Given the description of an element on the screen output the (x, y) to click on. 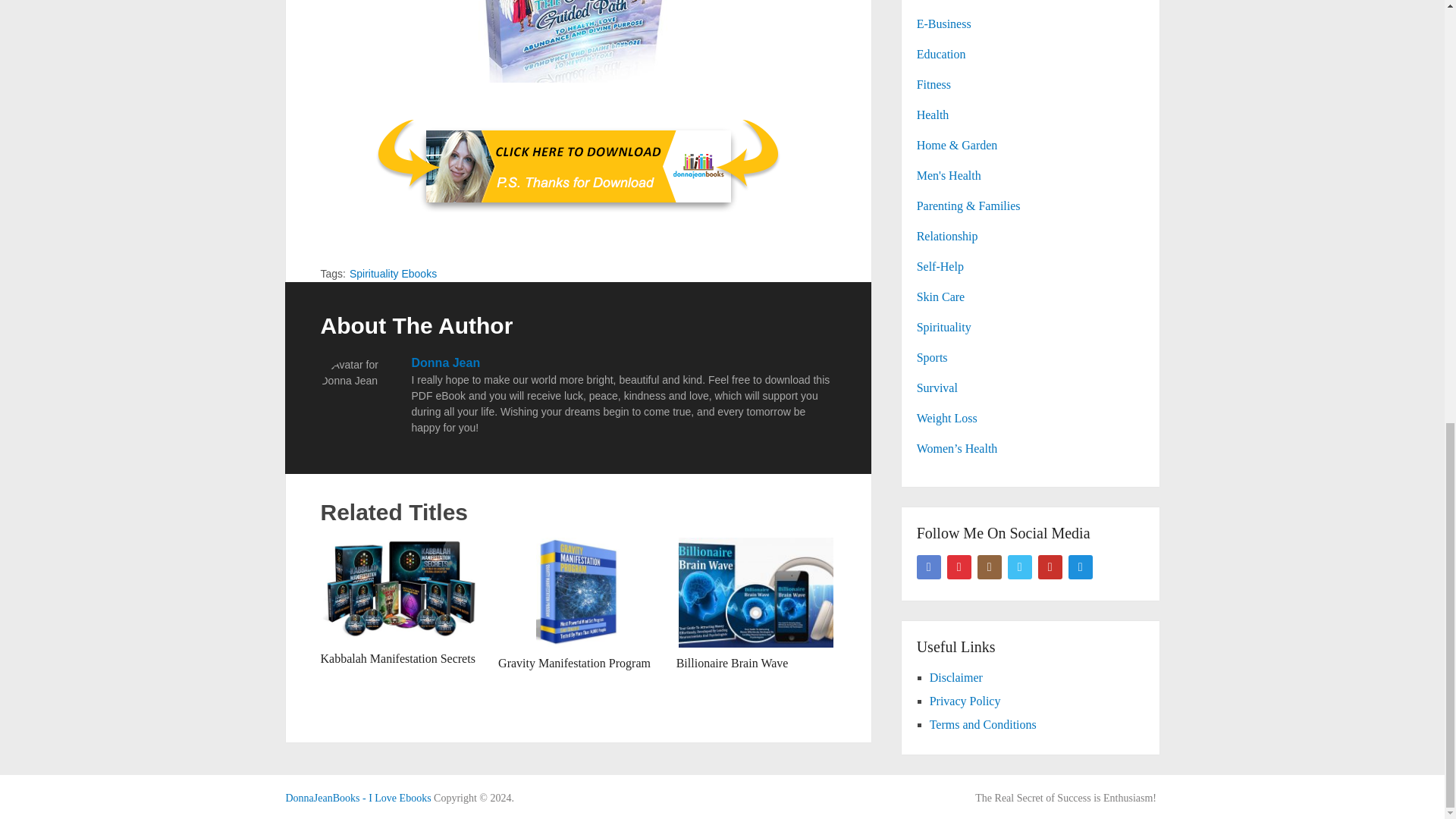
E-Business (944, 23)
Billionaire Brain Wave (733, 662)
Men's Health (949, 174)
Billionaire Brain Wave (733, 662)
Kabbalah Manifestation Secrets (397, 658)
Spirituality Ebooks (392, 273)
Fitness (933, 83)
Gravity Manifestation Program (573, 662)
Gravity Manifestation Program (573, 662)
Gravity Manifestation Program (577, 592)
Donna Jean (445, 362)
Billionaire Brain Wave (756, 592)
Education (941, 53)
Health (933, 114)
Kabbalah Manifestation Secrets (397, 658)
